Given the description of an element on the screen output the (x, y) to click on. 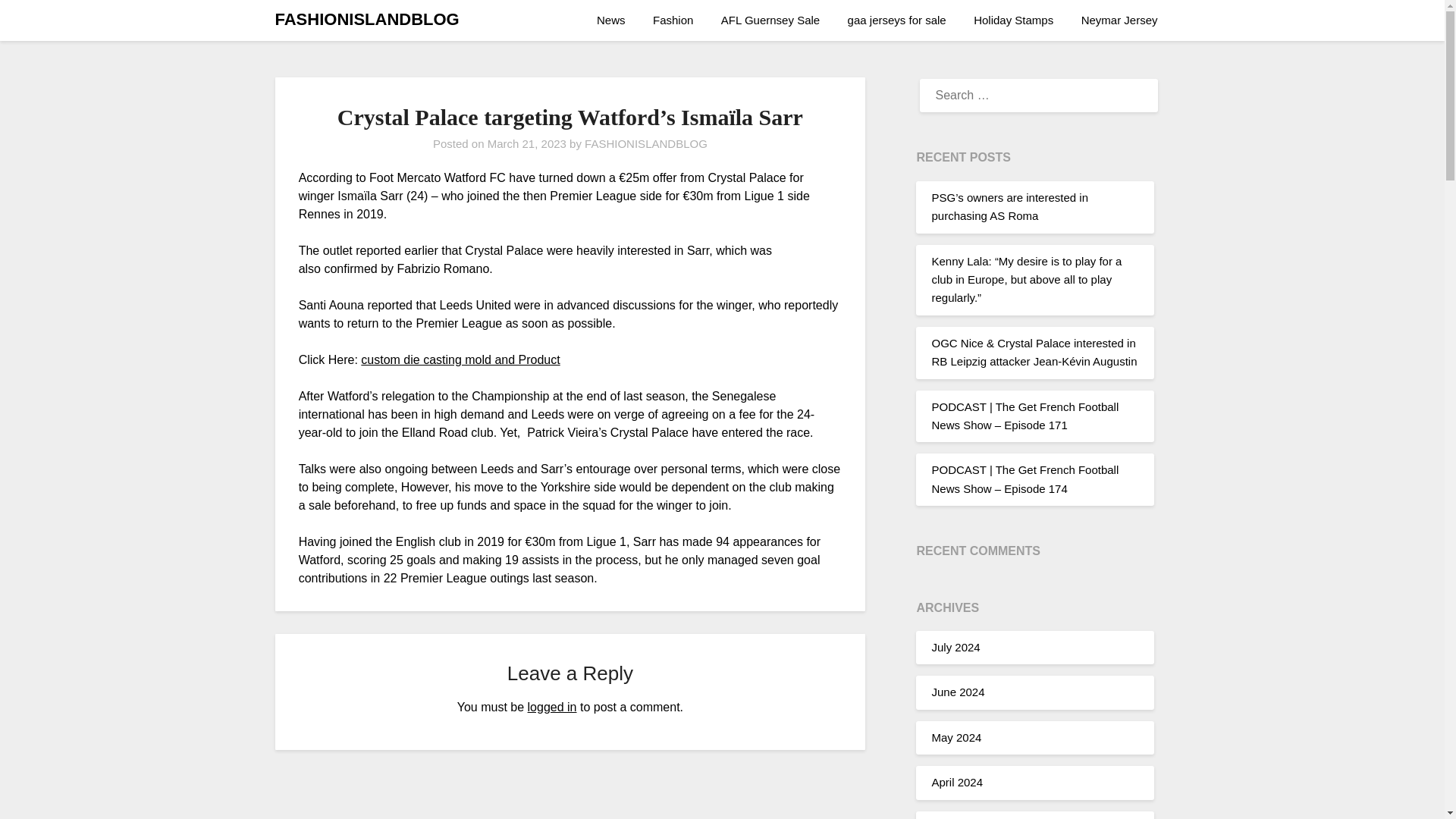
custom die casting mold and Product (460, 359)
News (616, 20)
June 2024 (957, 691)
May 2024 (956, 737)
March 21, 2023 (526, 143)
logged in (551, 707)
FASHIONISLANDBLOG (646, 143)
AFL Guernsey Sale (770, 20)
Holiday Stamps (1012, 20)
FASHIONISLANDBLOG (366, 19)
April 2024 (956, 781)
custom die casting mold and Product (460, 359)
July 2024 (955, 646)
gaa jerseys for sale (896, 20)
Neymar Jersey (1119, 20)
